Given the description of an element on the screen output the (x, y) to click on. 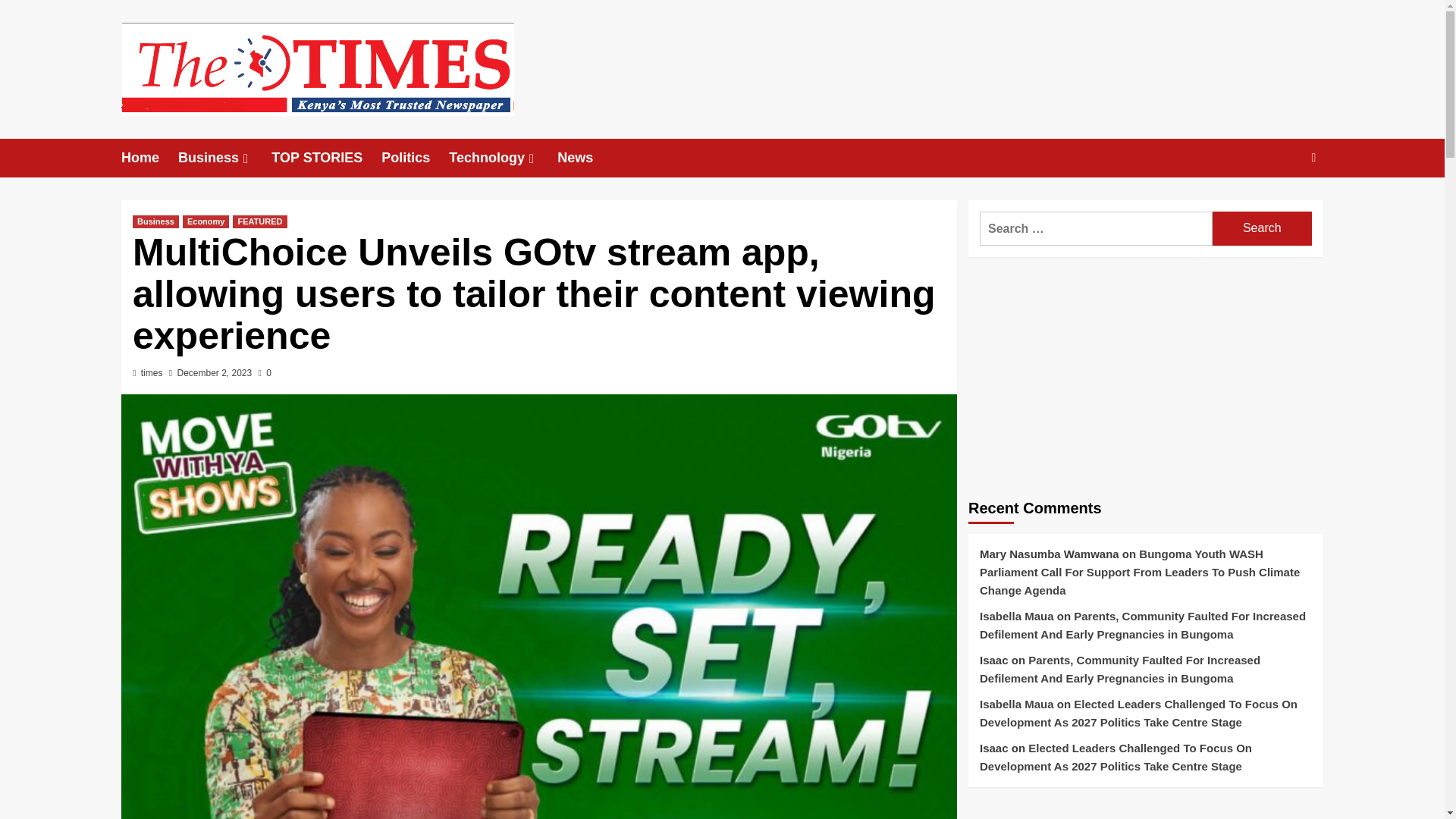
Search (1261, 228)
Home (148, 157)
News (584, 157)
Business (223, 157)
times (152, 372)
Business (155, 221)
TOP STORIES (325, 157)
Economy (206, 221)
Politics (414, 157)
FEATURED (259, 221)
